Given the description of an element on the screen output the (x, y) to click on. 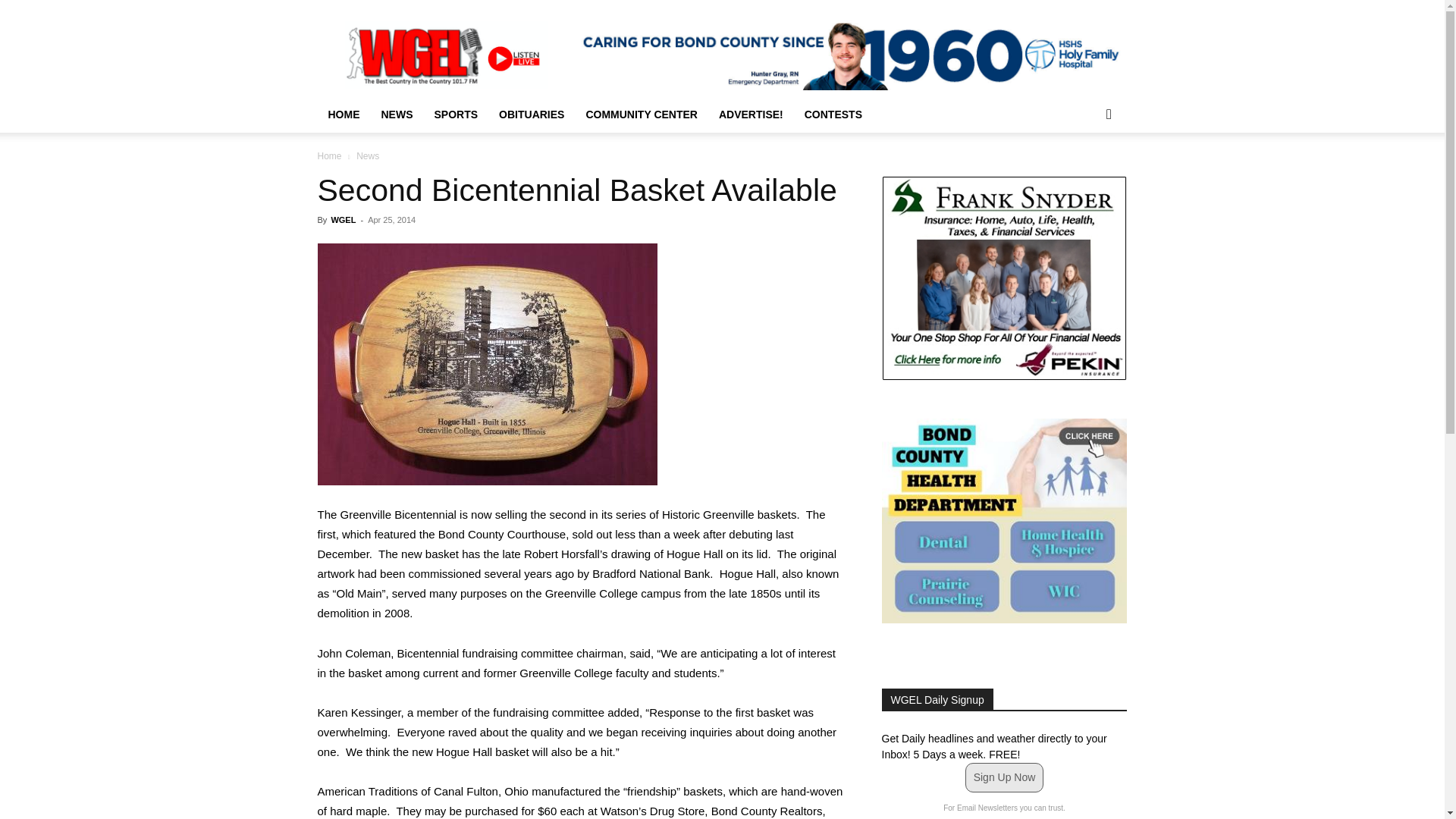
ADVERTISE! (750, 114)
NEWS (396, 114)
CONTESTS (832, 114)
Bicentennial Basket Hogue 1 (486, 364)
COMMUNITY CENTER (641, 114)
WGEL (342, 219)
Home (328, 155)
SPORTS (455, 114)
Search (1085, 174)
OBITUARIES (531, 114)
